Given the description of an element on the screen output the (x, y) to click on. 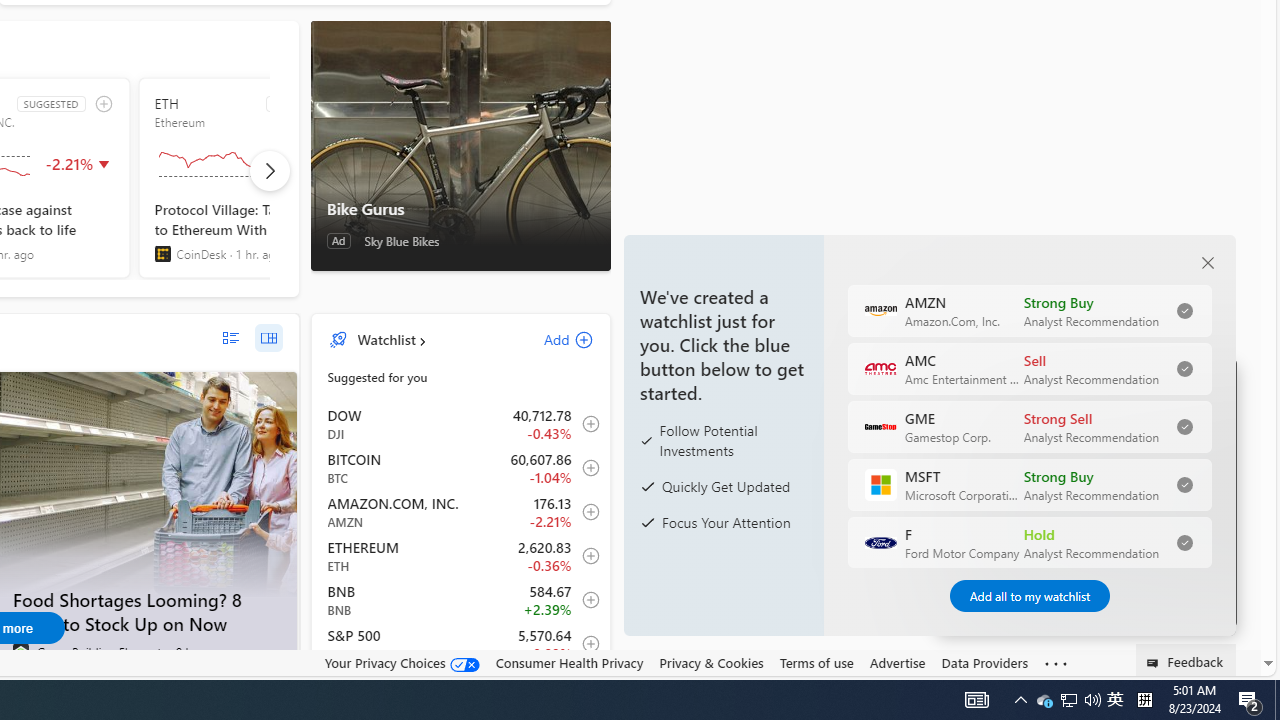
ETH Ethereum decrease 2,620.83 -9.43 -0.36% item3 (461, 556)
AMZN AMAZON.COM, INC. decrease 176.13 -3.98 -2.21% item2 (461, 512)
list layout (230, 338)
ETH SUGGESTED Ethereum (258, 178)
